Given the description of an element on the screen output the (x, y) to click on. 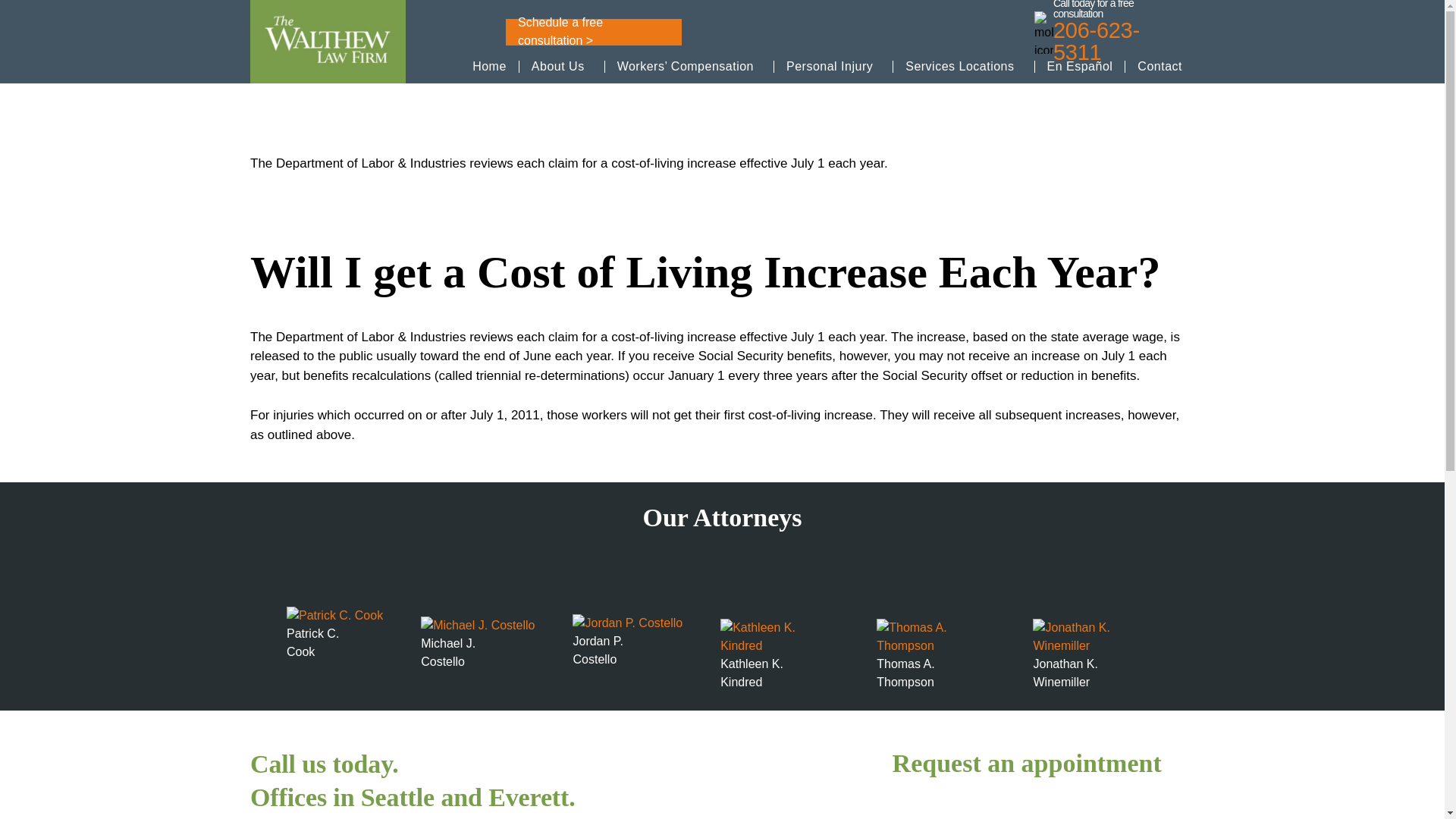
206-623-5311 (1117, 41)
Home (488, 65)
About Us (558, 65)
contact form (1042, 806)
